Given the description of an element on the screen output the (x, y) to click on. 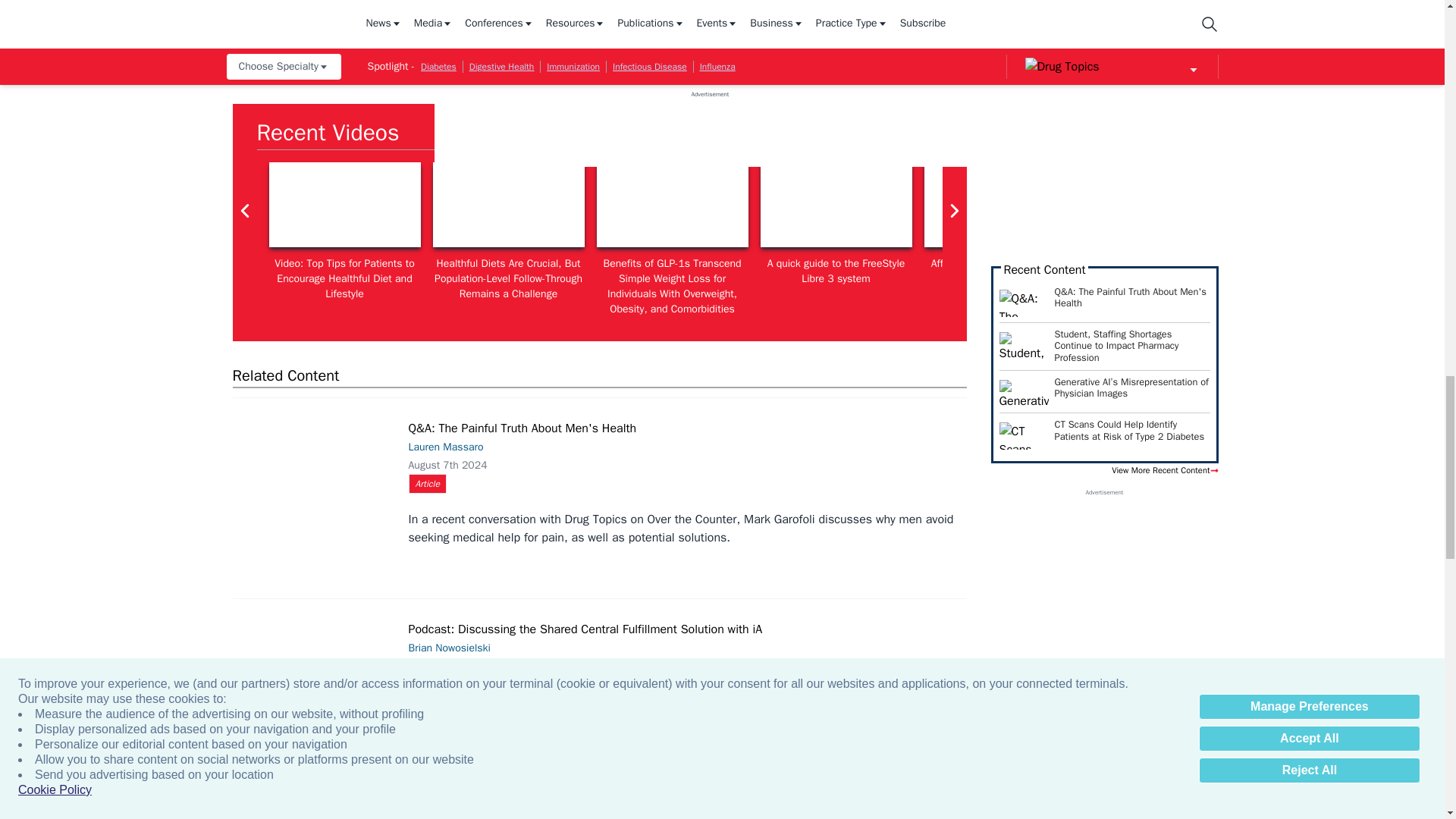
Learn about the MyFreeStyle program  (1326, 205)
A quick guide to the FreeStyle Libre 3 system  (835, 205)
Affordability of FreeStyle Libre systems  (999, 205)
Clinical benefits of FreeStyle Libre systems  (1163, 205)
